Given the description of an element on the screen output the (x, y) to click on. 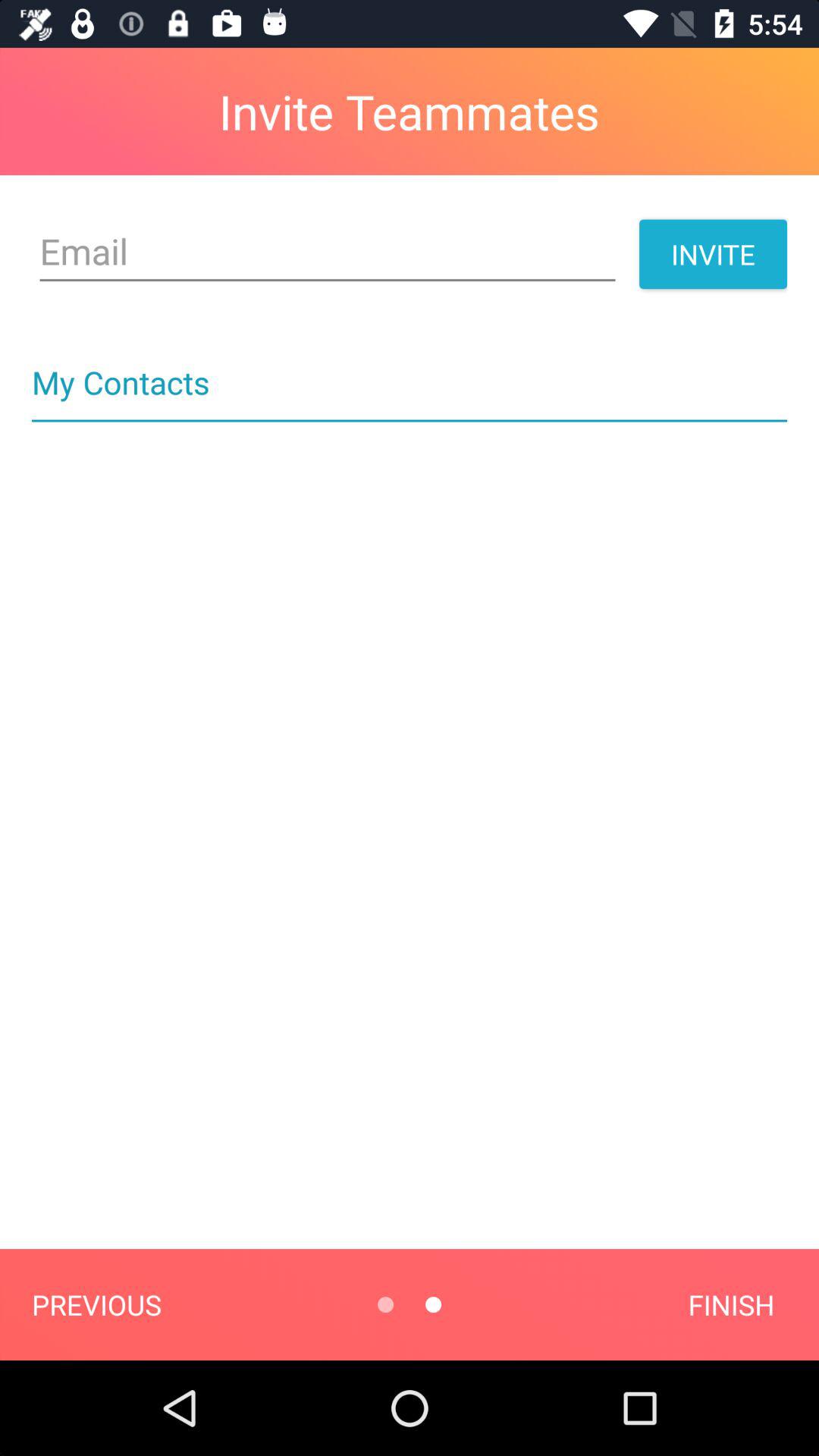
open the item to the left of invite icon (327, 251)
